Given the description of an element on the screen output the (x, y) to click on. 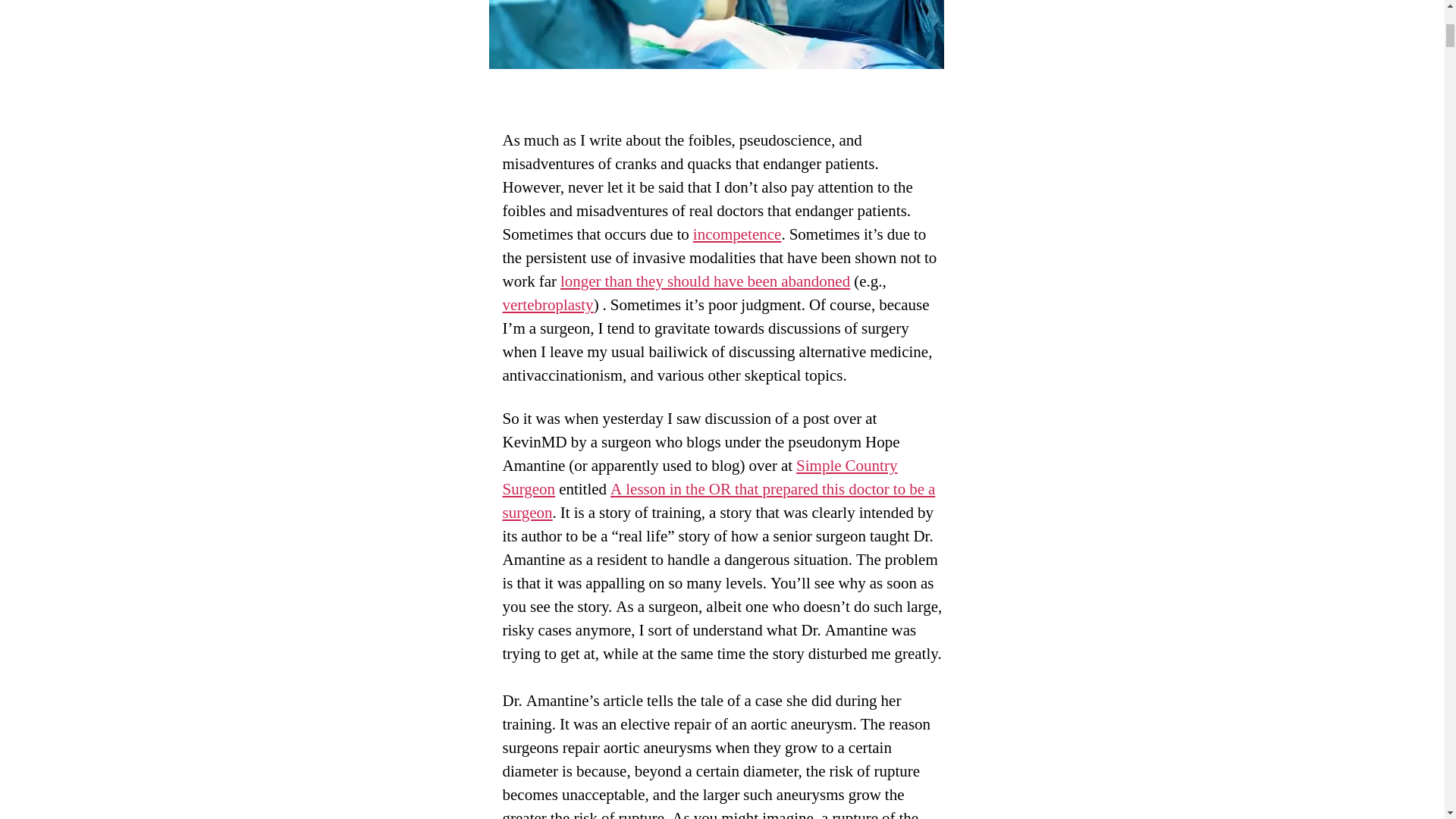
vertebroplasty (547, 304)
longer than they should have been abandoned (705, 281)
Simple Country Surgeon (699, 477)
A lesson in the OR that prepared this doctor to be a surgeon (718, 501)
incompetence (737, 234)
